Given the description of an element on the screen output the (x, y) to click on. 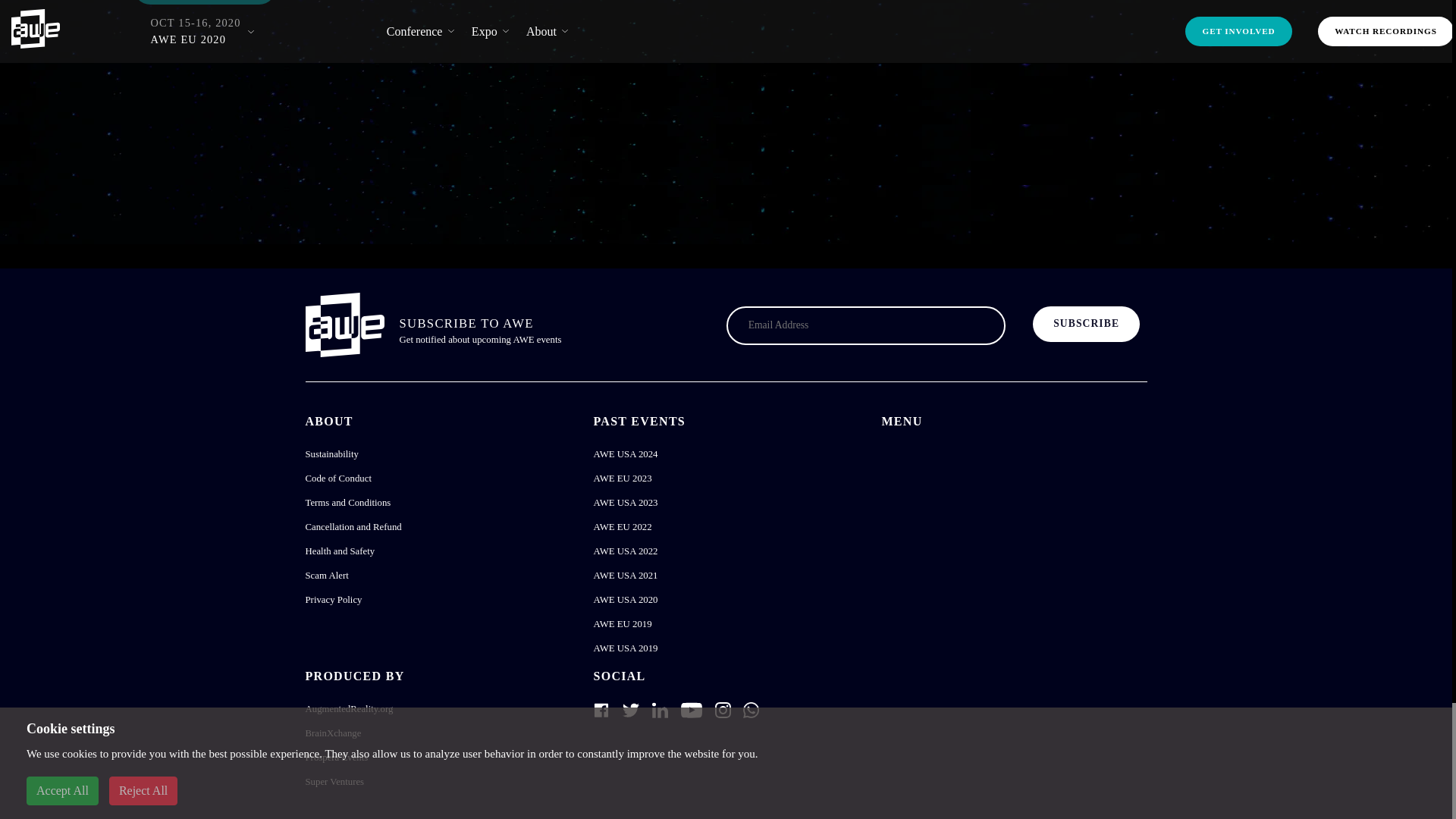
Subscribe (1086, 324)
